Given the description of an element on the screen output the (x, y) to click on. 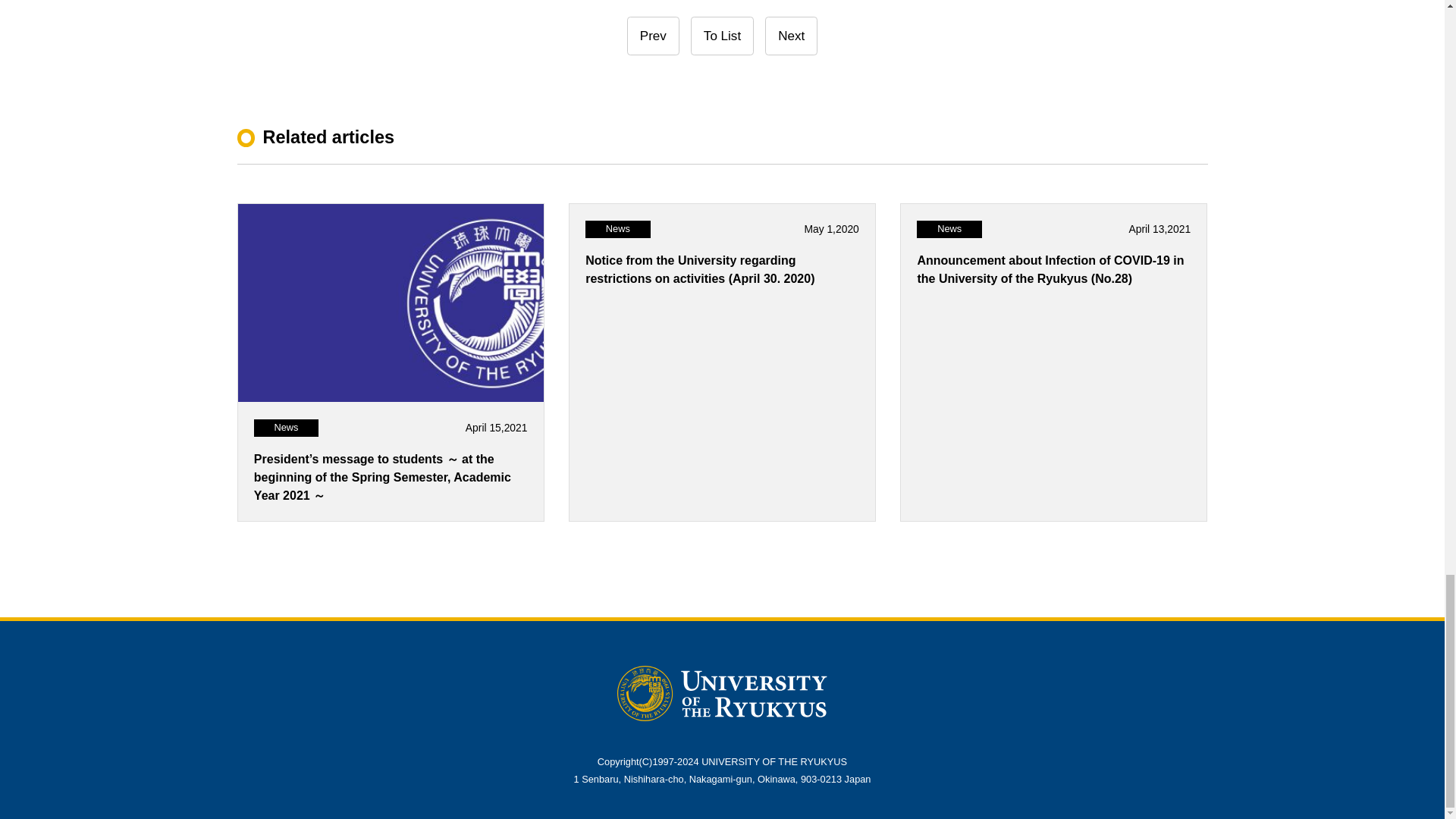
Next (790, 35)
Prev (653, 35)
To List (722, 35)
